Given the description of an element on the screen output the (x, y) to click on. 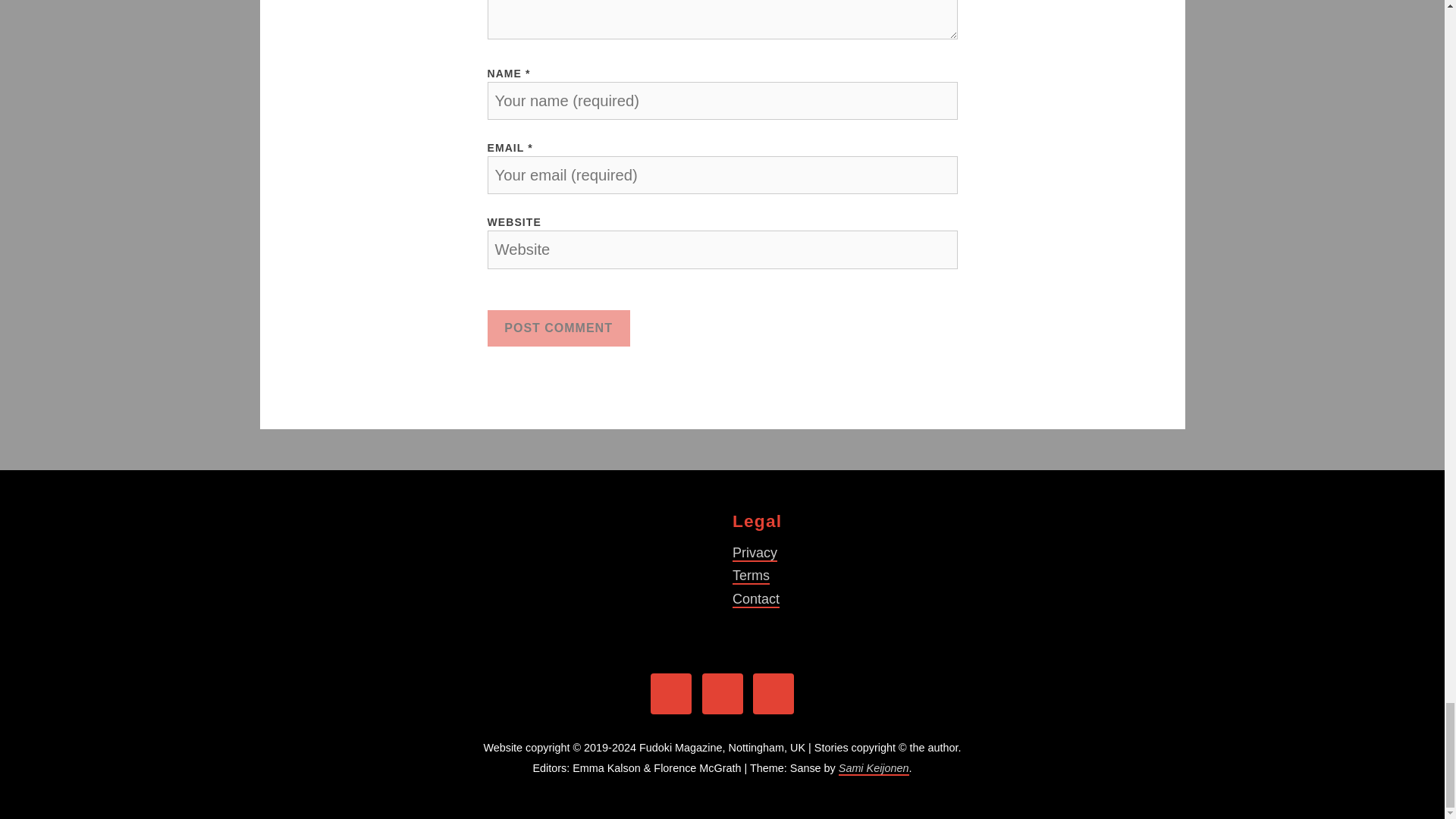
Twitter (721, 693)
Post Comment (557, 328)
Contact (755, 599)
Facebook (670, 693)
Post Comment (557, 328)
Terms (751, 576)
Sami Keijonen (873, 768)
Privacy (754, 553)
Instagram (772, 693)
